Given the description of an element on the screen output the (x, y) to click on. 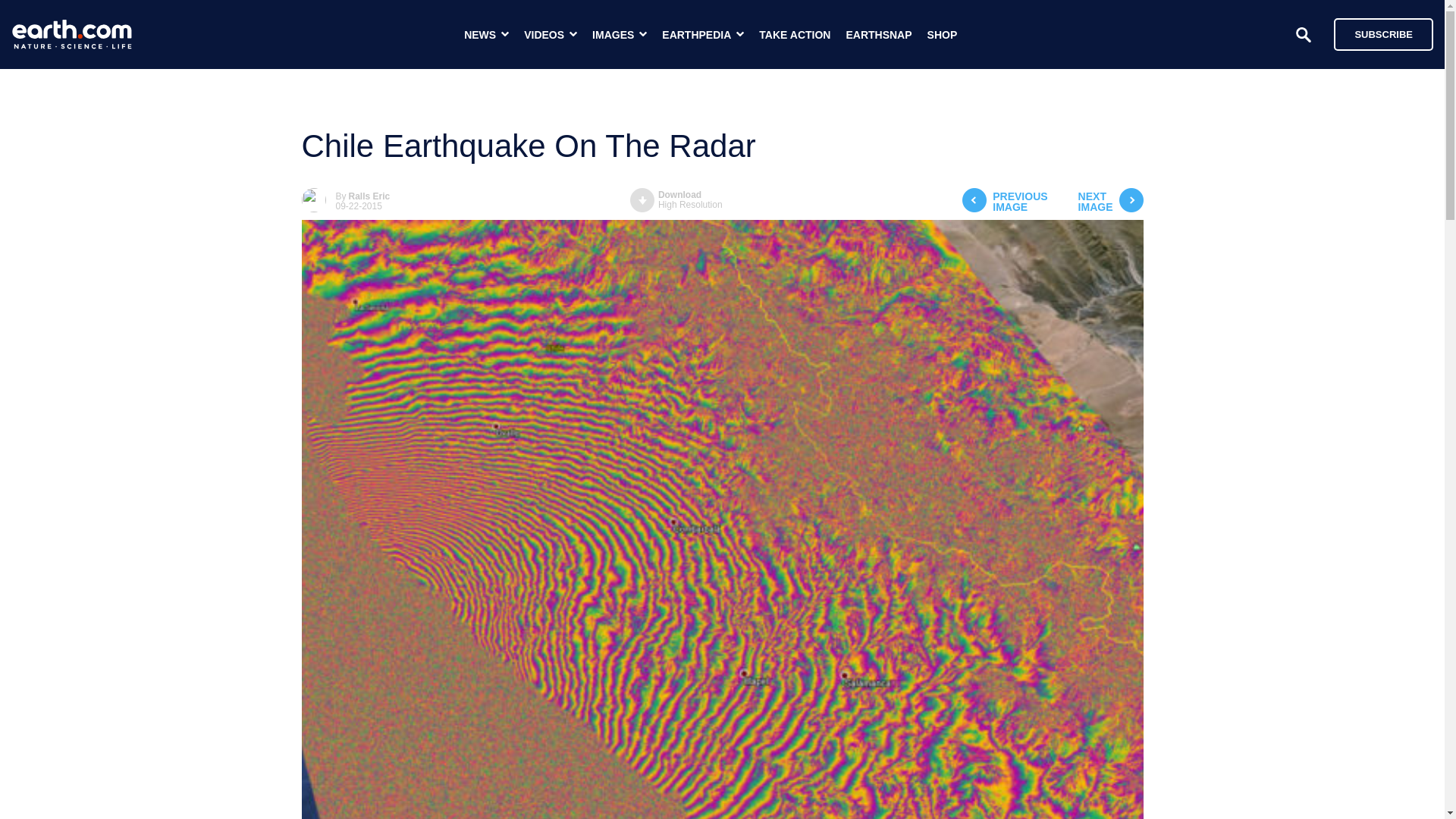
SUBSCRIBE (1004, 201)
SHOP (1382, 34)
EARTHSNAP (676, 200)
Ralls Eric (1110, 201)
TAKE ACTION (942, 34)
